Given the description of an element on the screen output the (x, y) to click on. 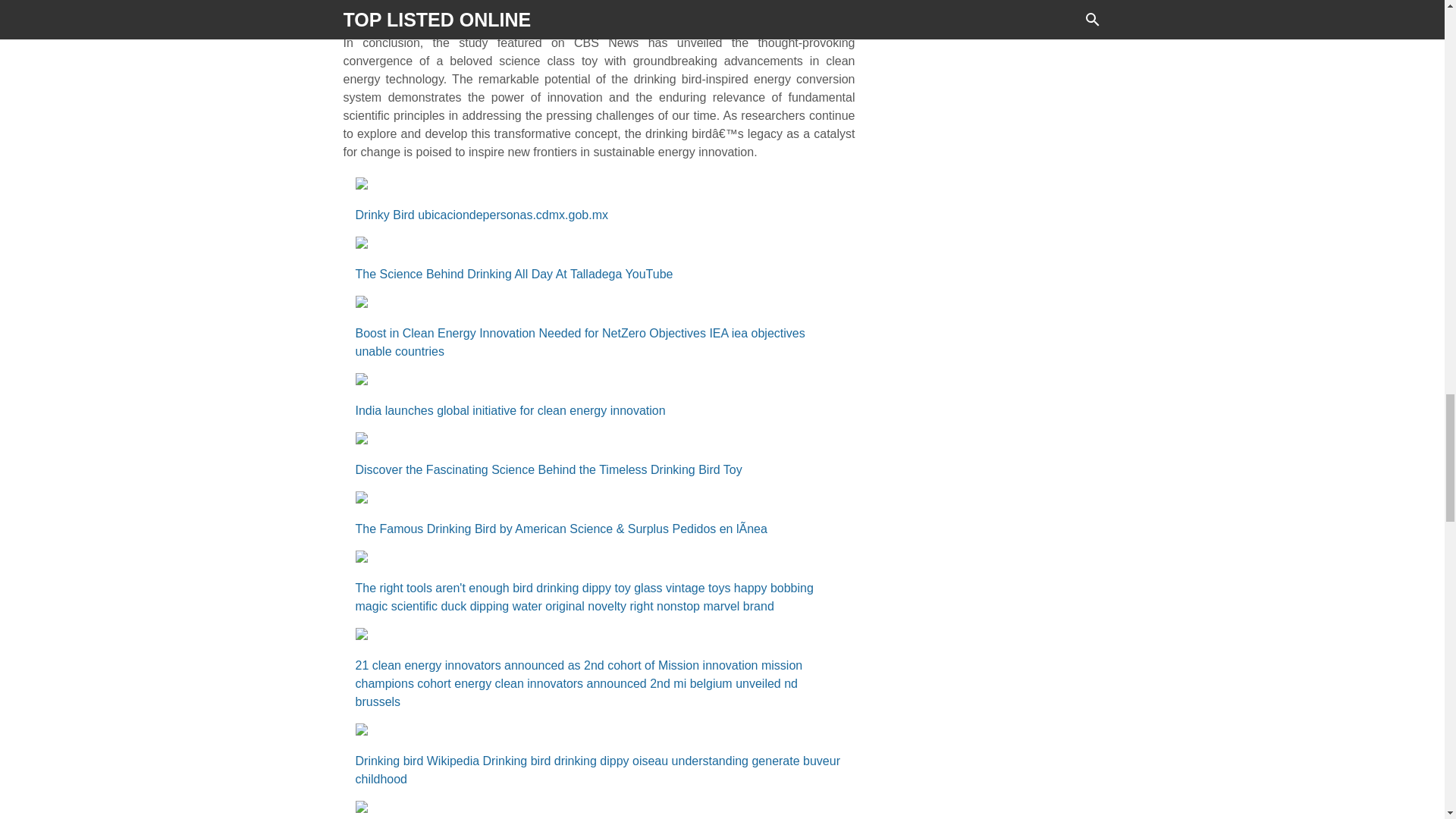
The Science Behind Drinking All Day At Talladega YouTube (599, 244)
India launches global initiative for clean energy innovation (599, 411)
India launches global initiative for clean energy innovation (599, 411)
The Science Behind Drinking All Day At Talladega YouTube (599, 274)
India launches global initiative for clean energy innovation (599, 381)
The Science Behind Drinking All Day At Talladega YouTube (599, 274)
Drinky Bird ubicaciondepersonas.cdmx.gob.mx (599, 215)
Drinky Bird ubicaciondepersonas.cdmx.gob.mx (599, 185)
